Given the description of an element on the screen output the (x, y) to click on. 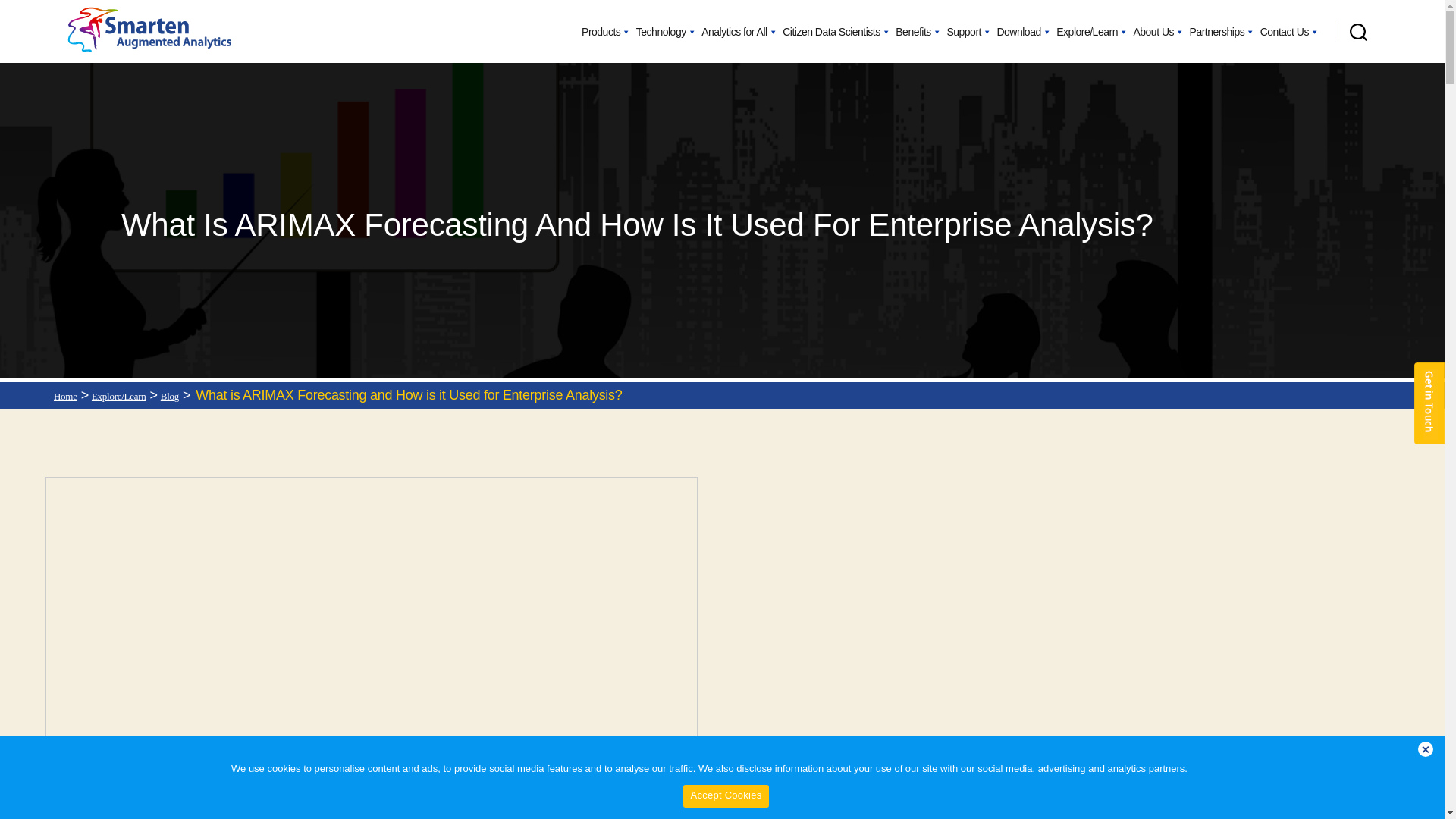
Products (605, 33)
